Given the description of an element on the screen output the (x, y) to click on. 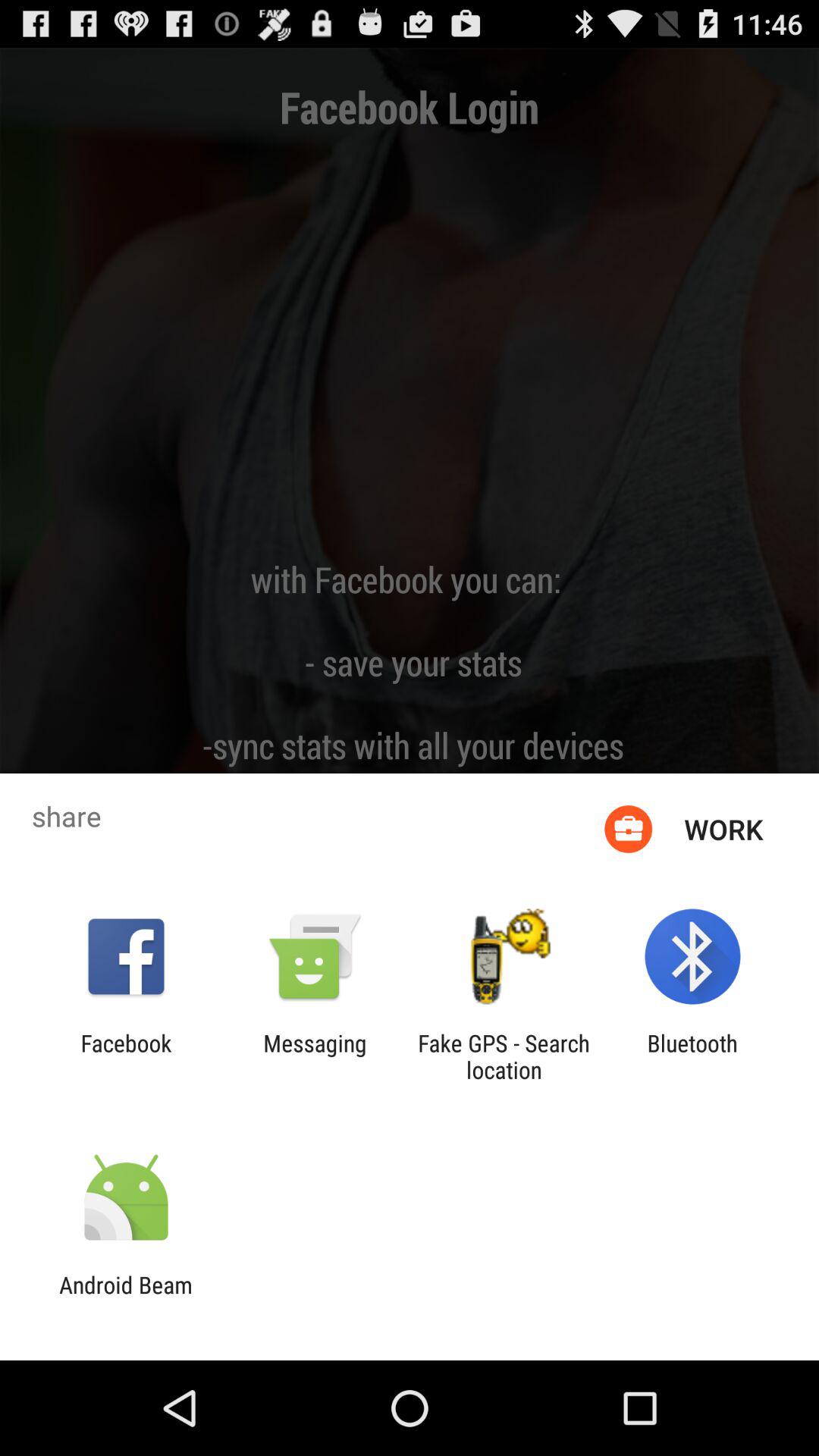
turn on the bluetooth item (692, 1056)
